Given the description of an element on the screen output the (x, y) to click on. 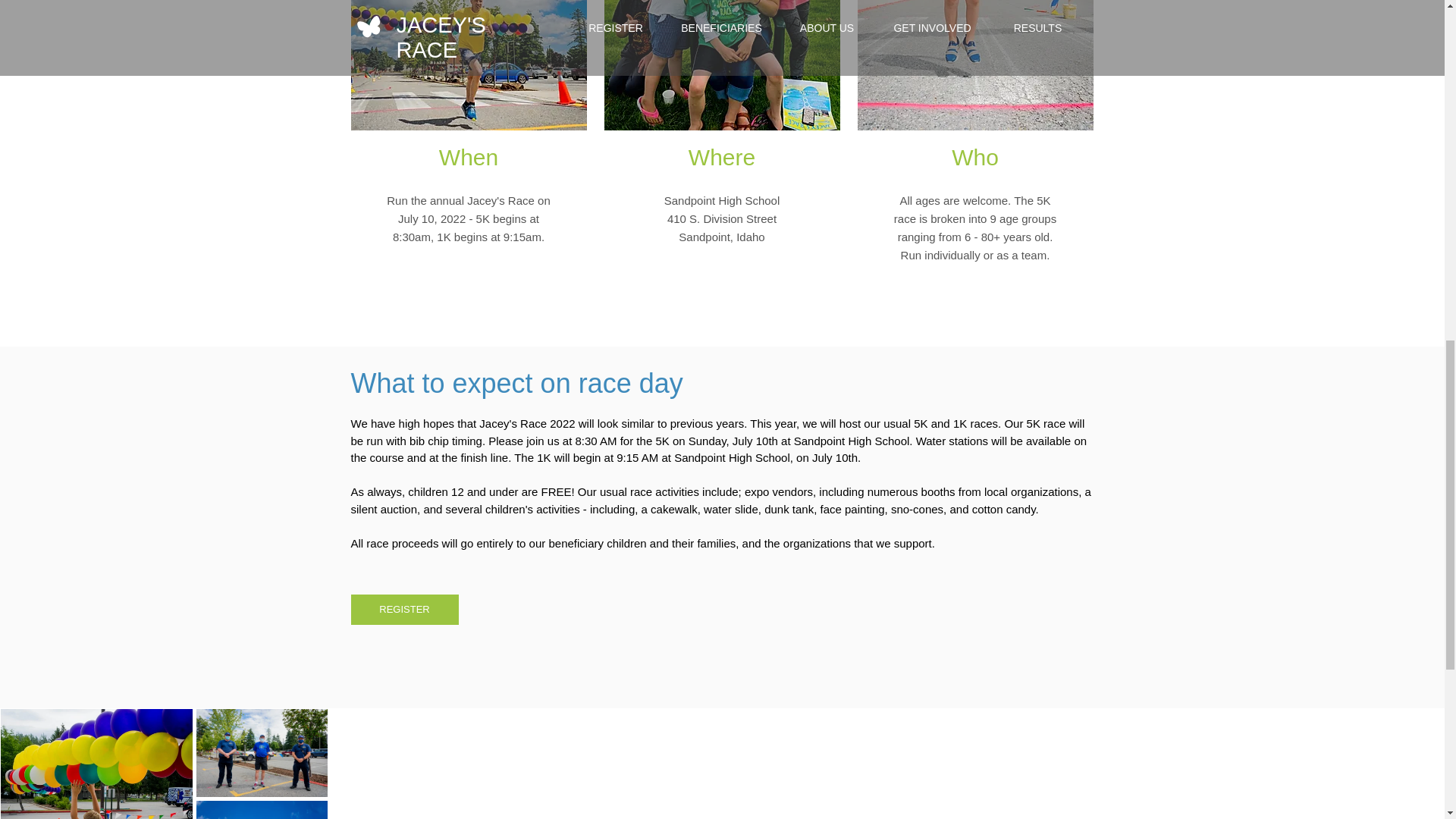
REGISTER (404, 609)
